Given the description of an element on the screen output the (x, y) to click on. 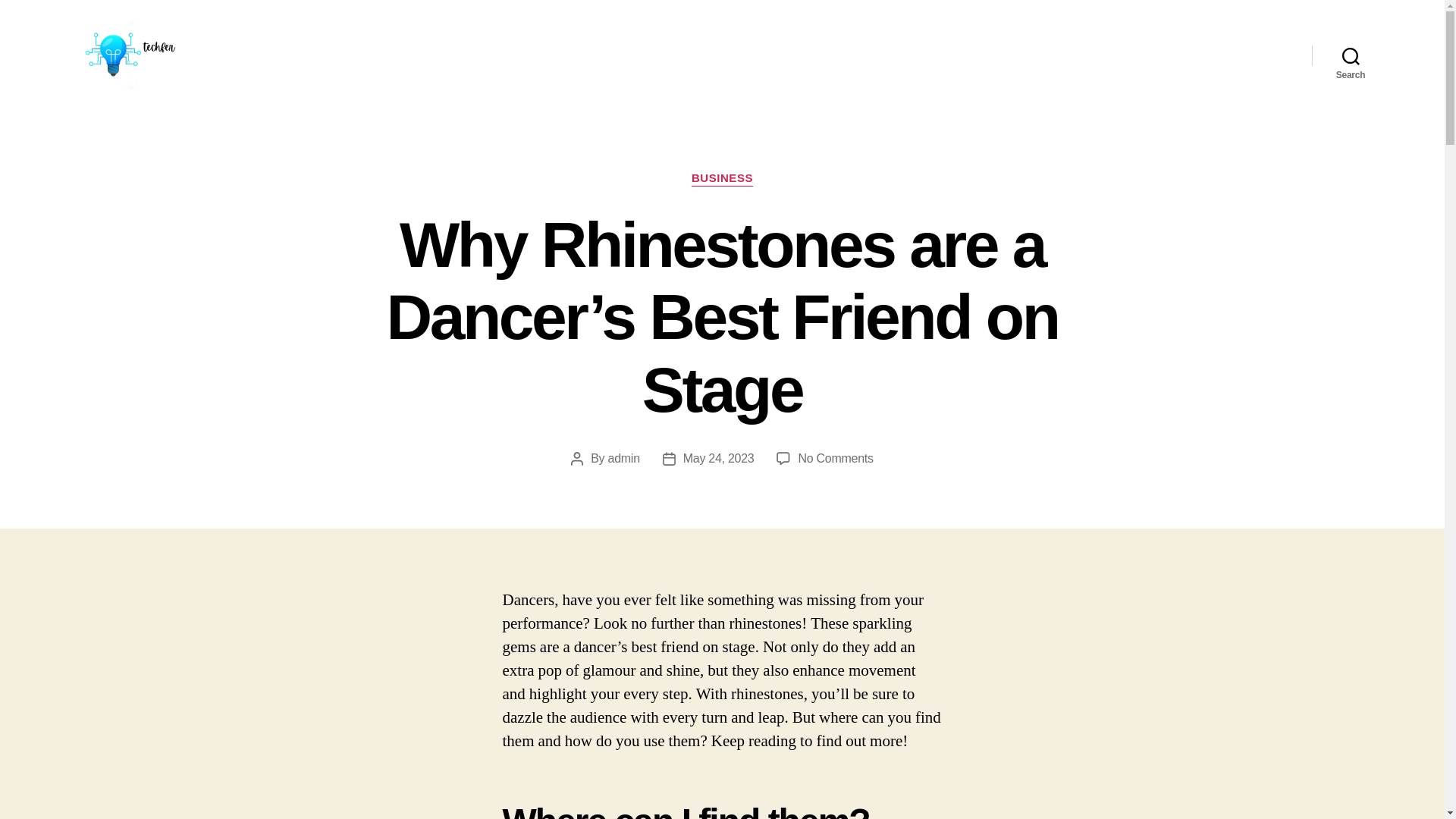
May 24, 2023 (718, 458)
Search (1350, 55)
admin (624, 458)
BUSINESS (721, 178)
